Given the description of an element on the screen output the (x, y) to click on. 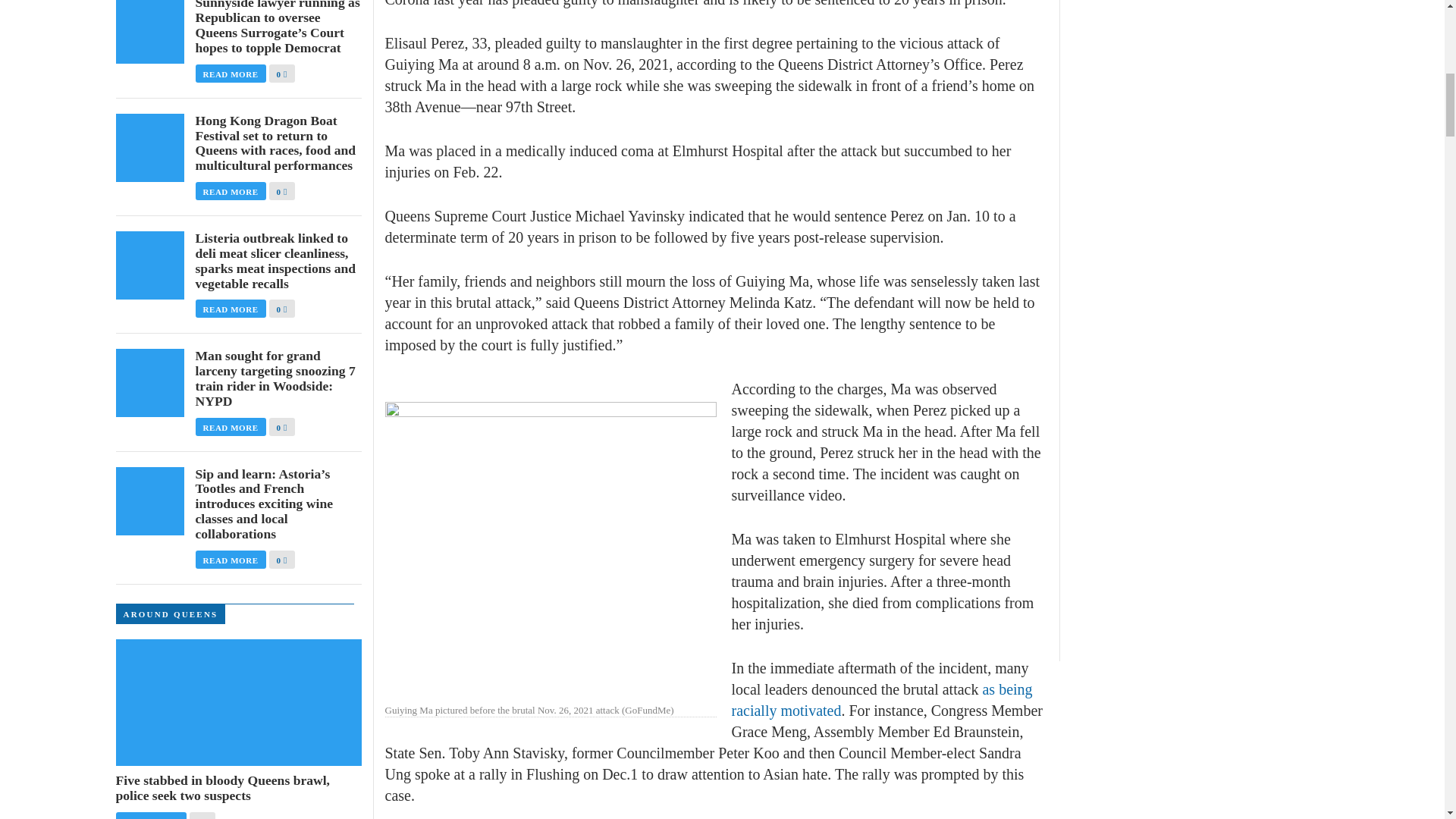
as being racially motivated (881, 699)
